Given the description of an element on the screen output the (x, y) to click on. 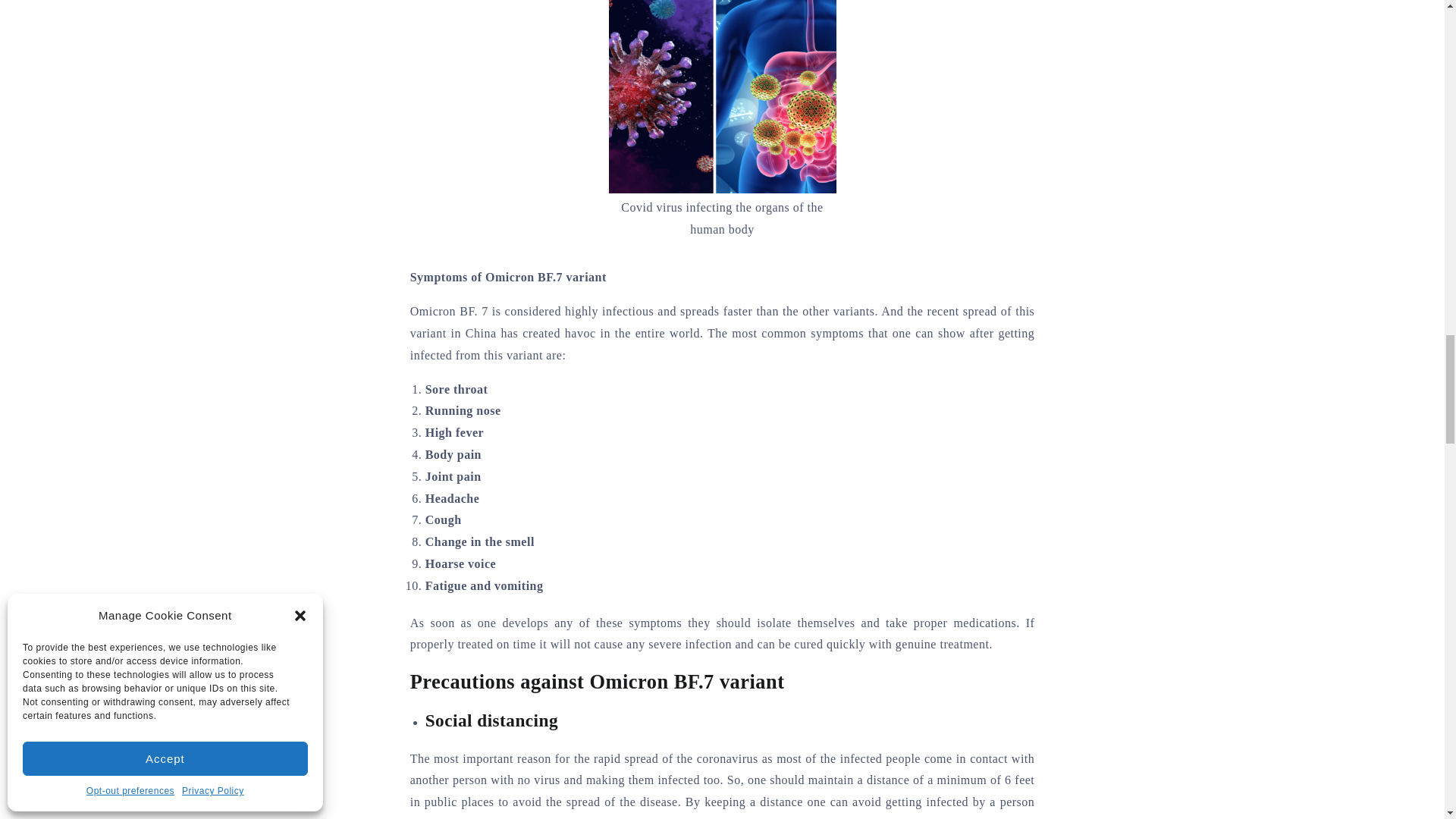
Omicron BF.7- Erakina 2 (721, 96)
